Given the description of an element on the screen output the (x, y) to click on. 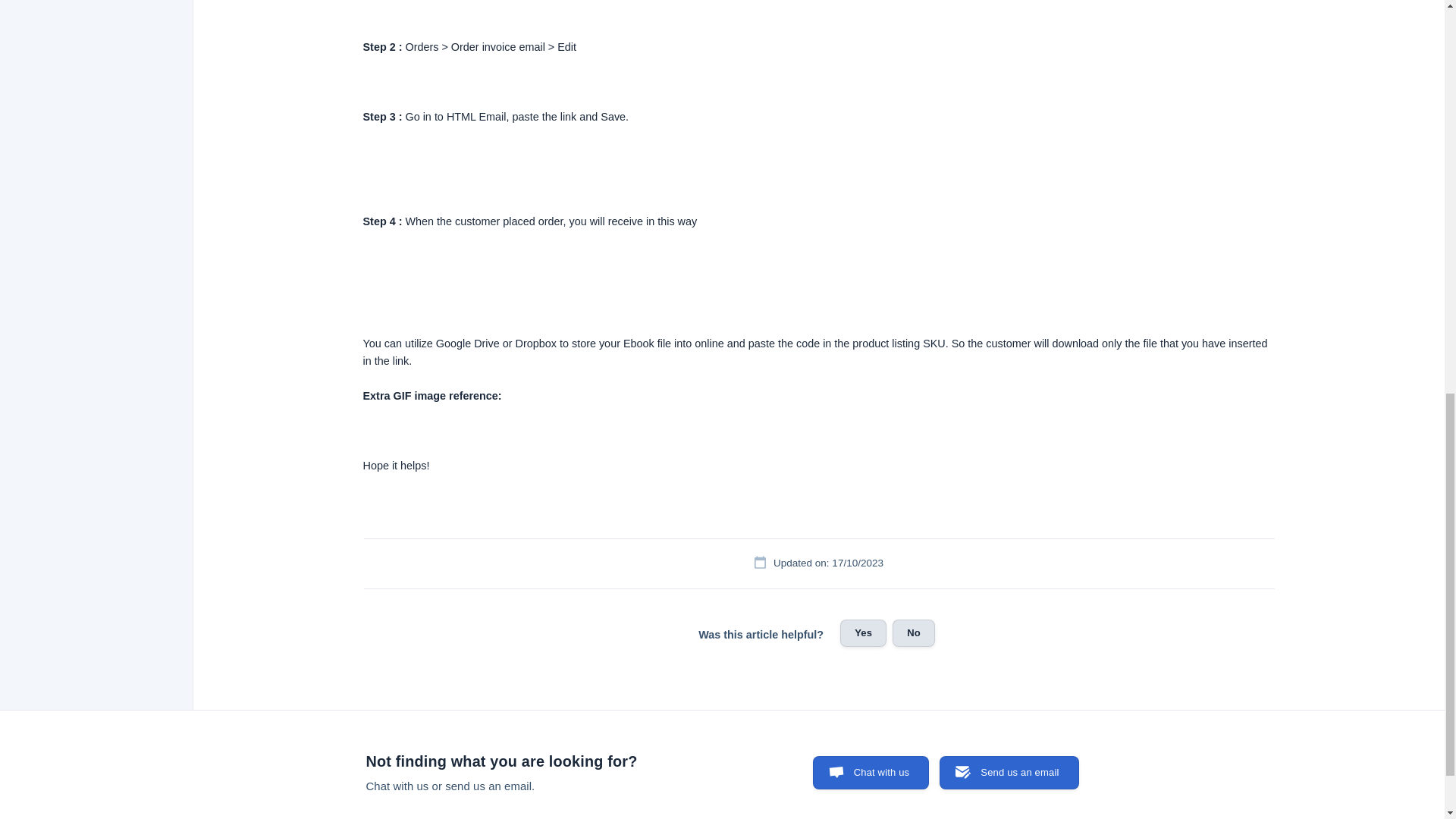
Yes (863, 633)
Send us an email (1008, 772)
No (913, 633)
Chat with us (871, 772)
